Given the description of an element on the screen output the (x, y) to click on. 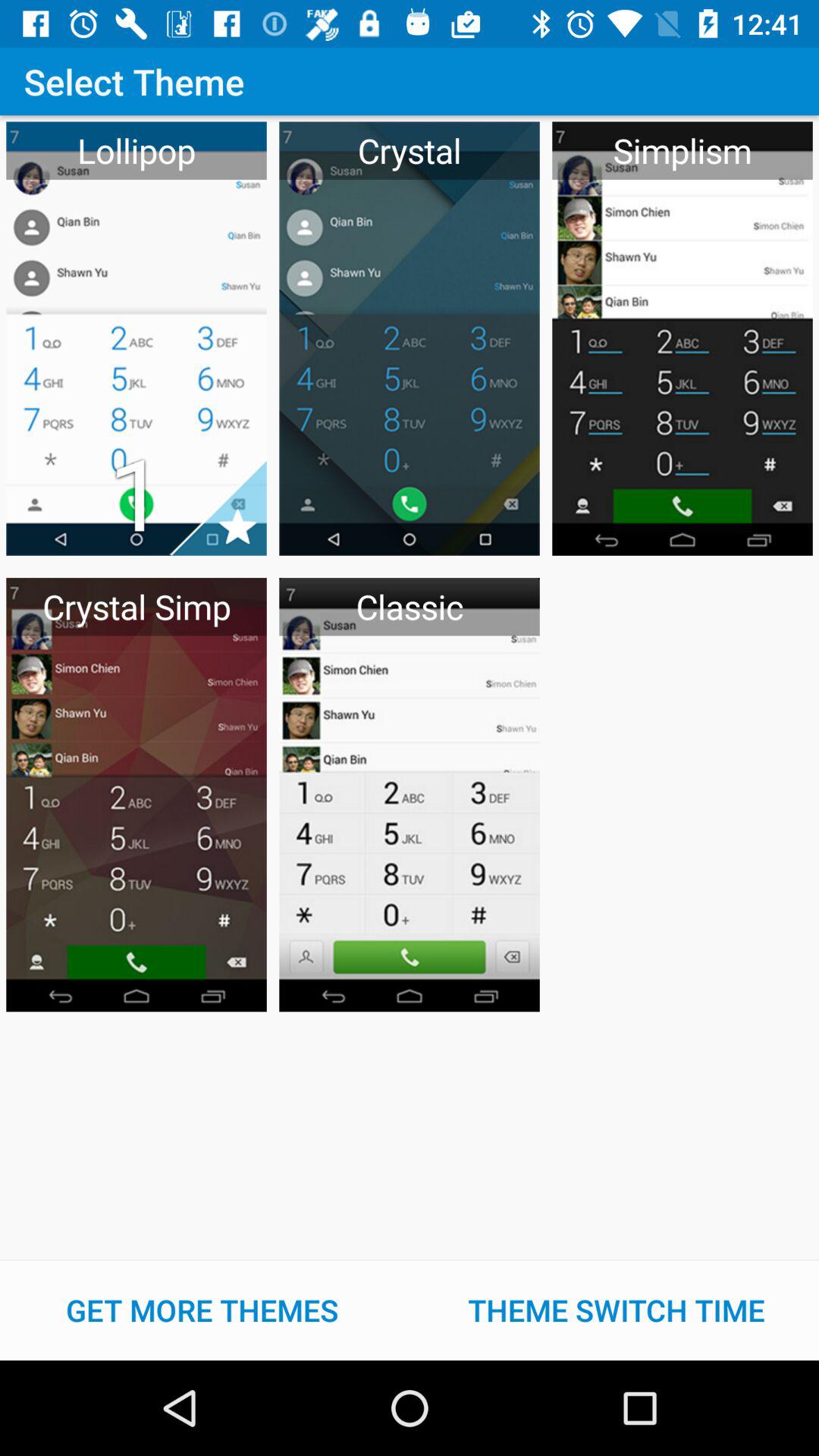
tap the button next to the get more themes icon (616, 1310)
